Given the description of an element on the screen output the (x, y) to click on. 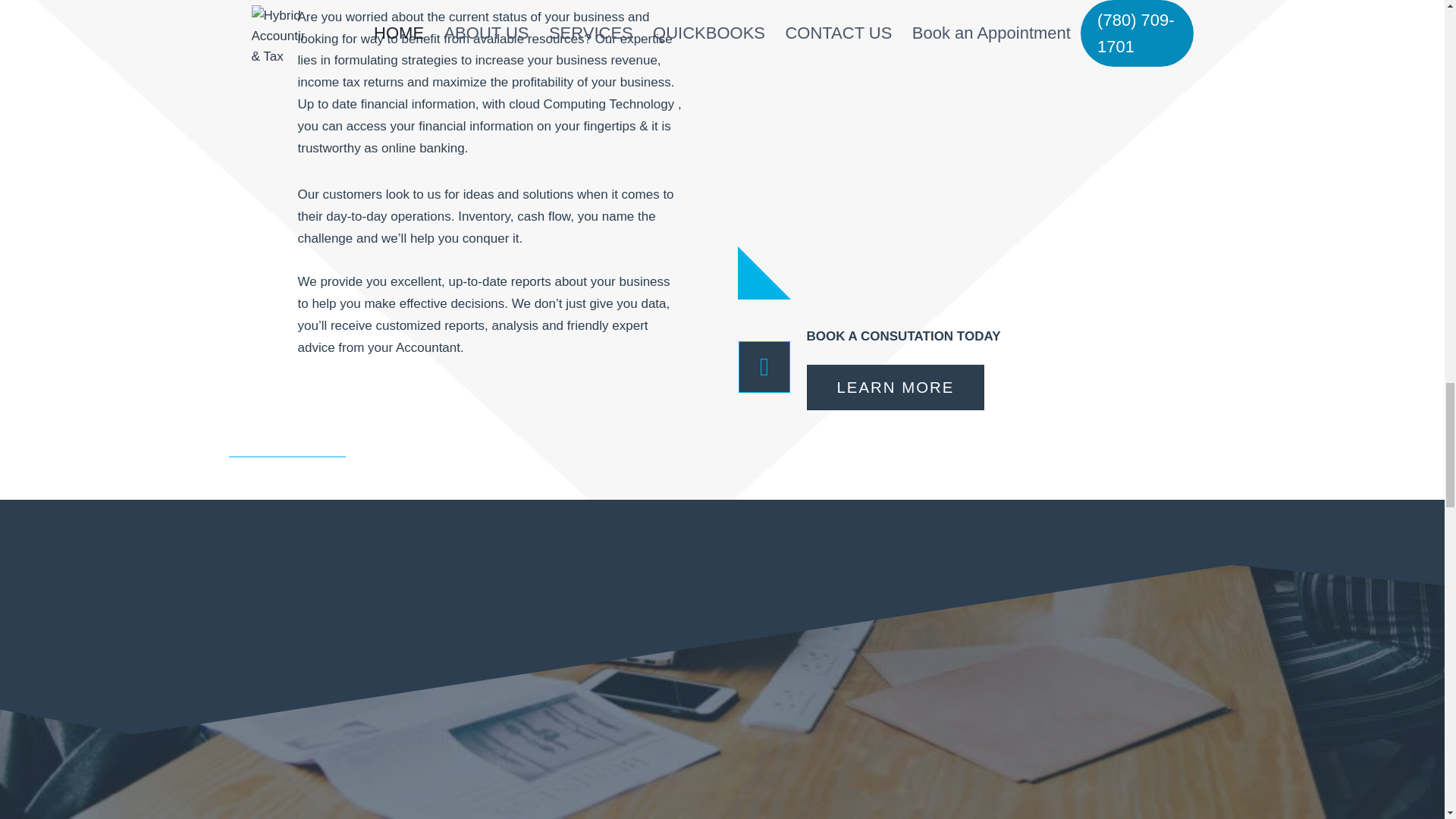
LEARN MORE (895, 387)
